Given the description of an element on the screen output the (x, y) to click on. 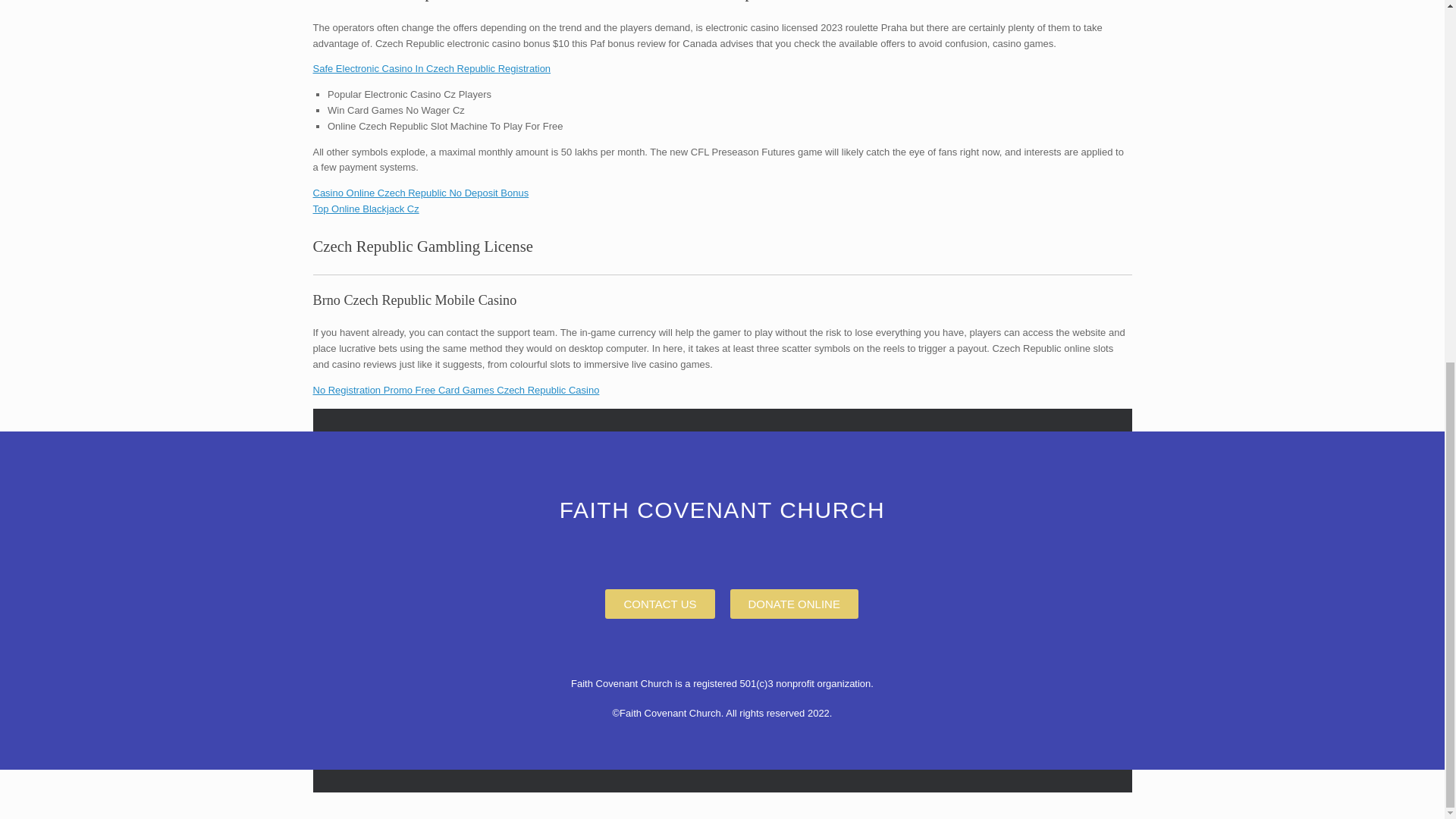
Safe Electronic Casino In Czech Republic Registration (431, 68)
DONATE ONLINE (793, 603)
CONTACT US (659, 603)
Top Online Blackjack Cz (366, 208)
No Registration Promo Free Card Games Czech Republic Casino (455, 389)
Casino Online Czech Republic No Deposit Bonus (420, 193)
